Given the description of an element on the screen output the (x, y) to click on. 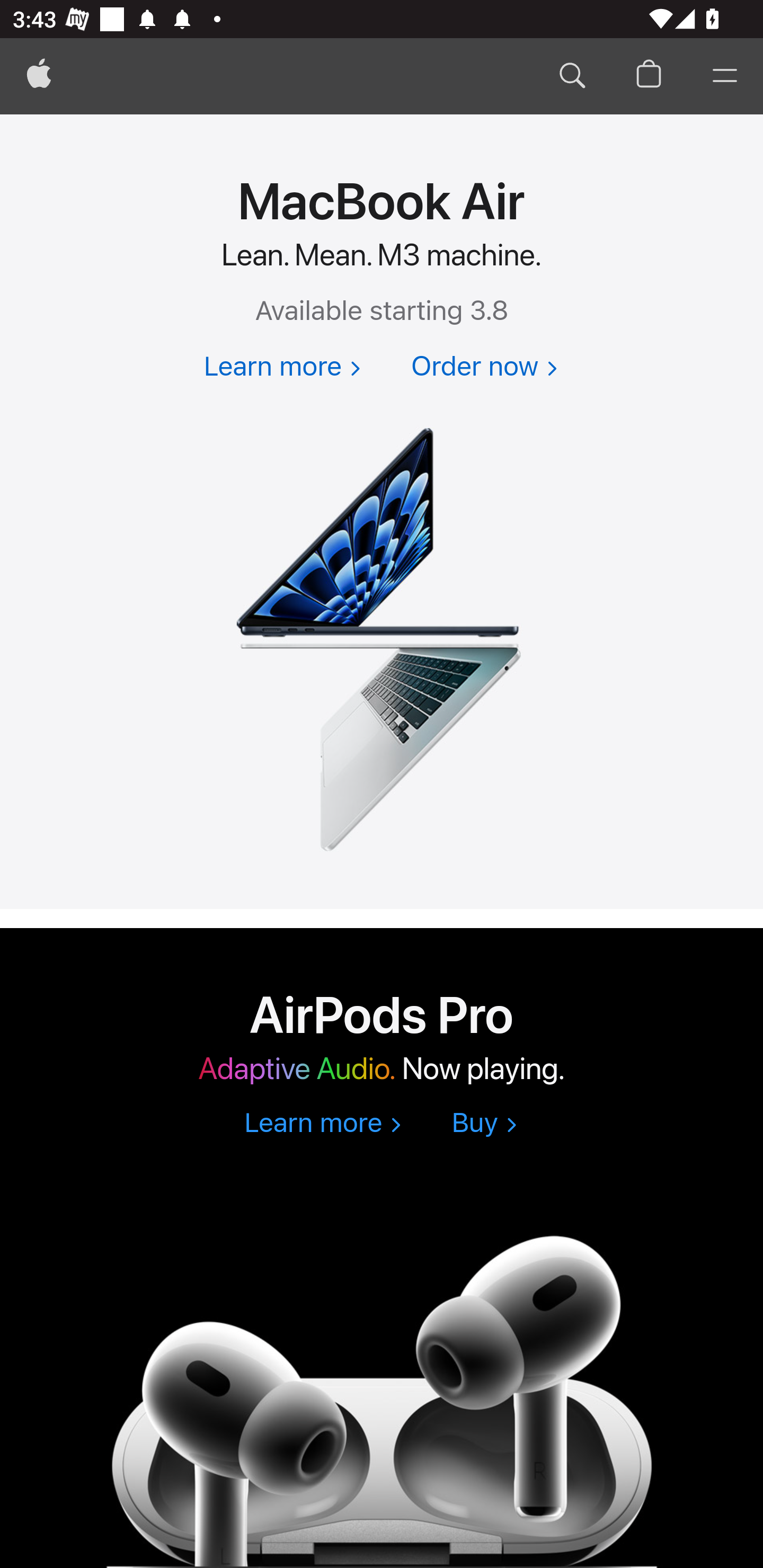
Apple (38, 75)
Search apple.com (572, 75)
Shopping Bag (648, 75)
Menu (724, 75)
Order now, Macbook Air with M3 chip Order now  (483, 367)
Learn more about AirPods Pro Learn more  (322, 1124)
Buy AirPods Pro Buy  (484, 1124)
